Given the description of an element on the screen output the (x, y) to click on. 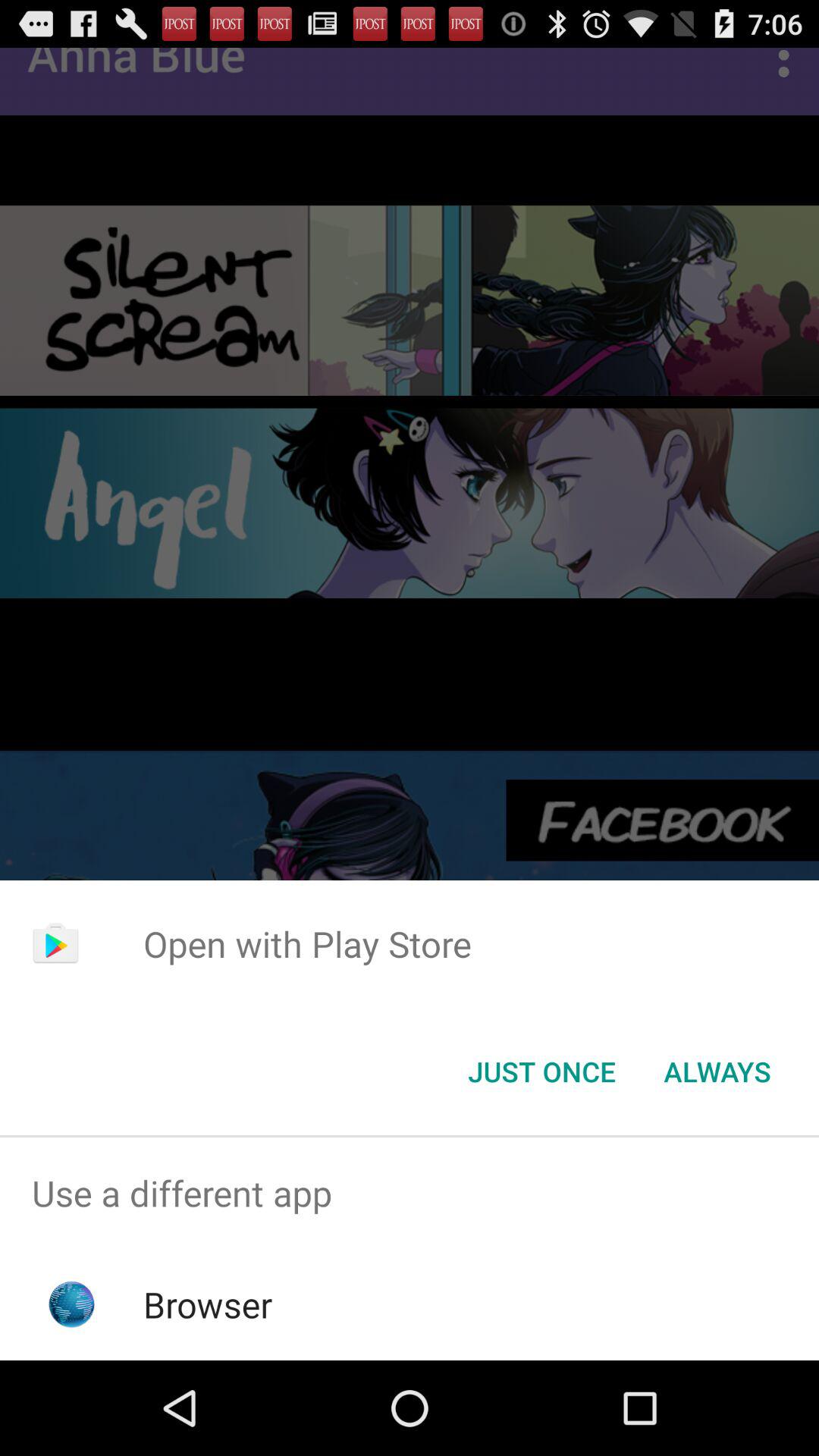
press the item next to the always (541, 1071)
